Given the description of an element on the screen output the (x, y) to click on. 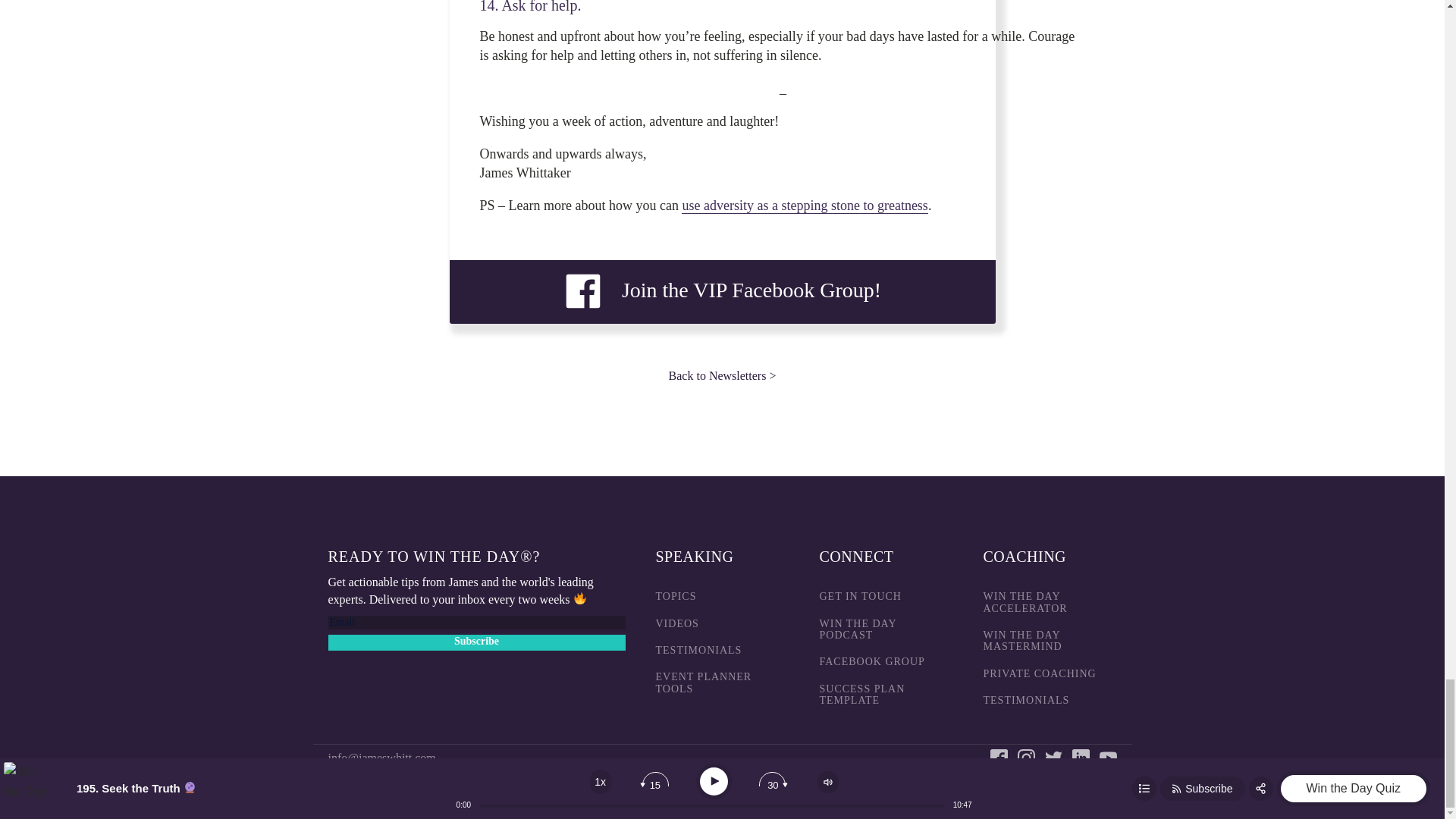
EVENT PLANNER TOOLS (722, 682)
Subscribe (475, 642)
TOPICS (675, 595)
Subscribe (475, 642)
TESTIMONIALS (698, 650)
Join the VIP Facebook Group! (721, 291)
use adversity as a stepping stone to greatness (804, 205)
VIDEOS (676, 622)
